Given the description of an element on the screen output the (x, y) to click on. 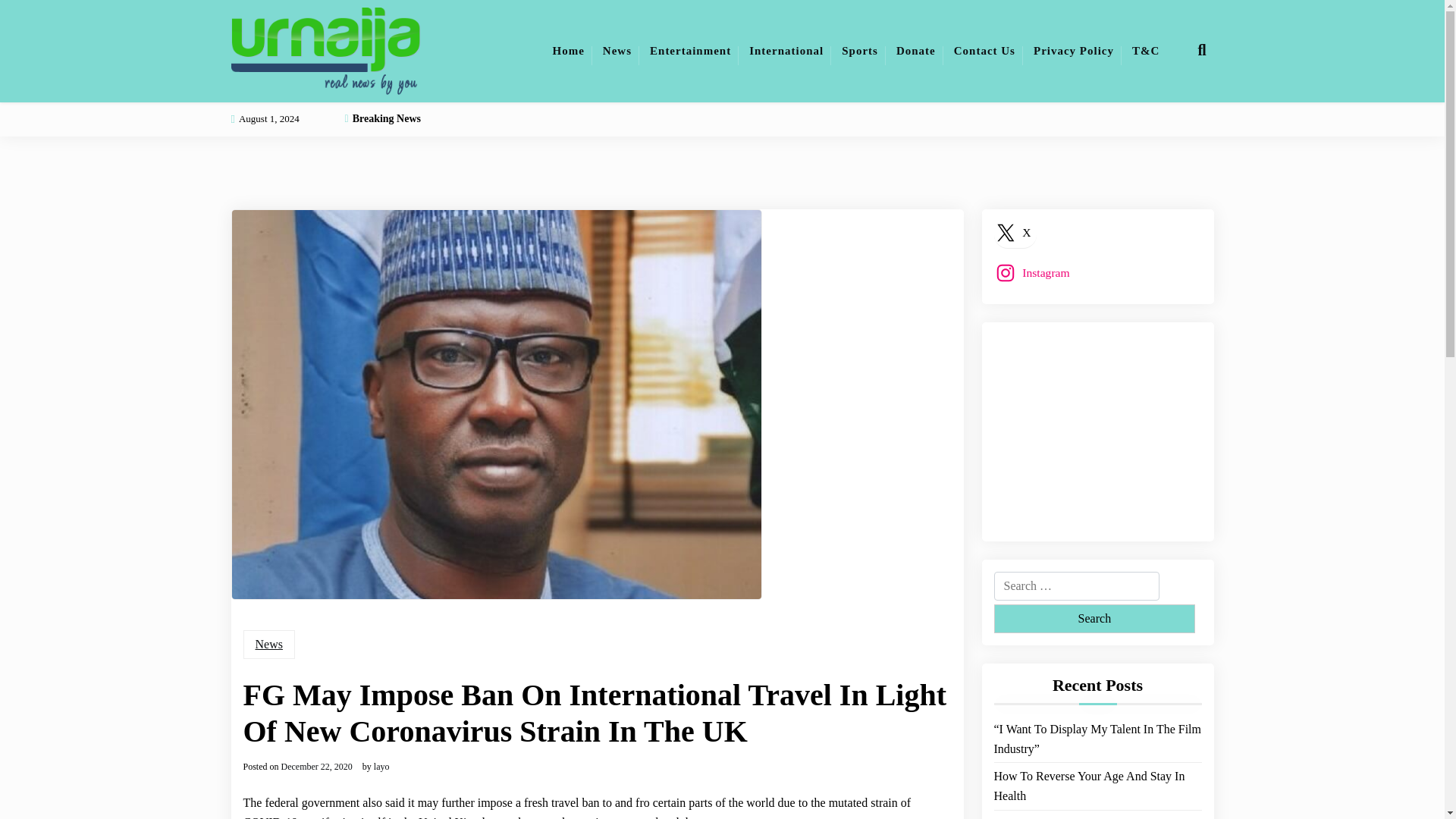
Instagram (1033, 272)
Sports (859, 50)
Privacy Policy (1073, 50)
December 22, 2020 (316, 766)
International (786, 50)
Donate (915, 50)
Home (568, 50)
Search (1093, 618)
Search (1093, 618)
X (1014, 232)
How To Reverse Your Age And Stay In Health (1096, 785)
Entertainment (690, 50)
layo (382, 766)
Search (1093, 618)
Contact Us (984, 50)
